Given the description of an element on the screen output the (x, y) to click on. 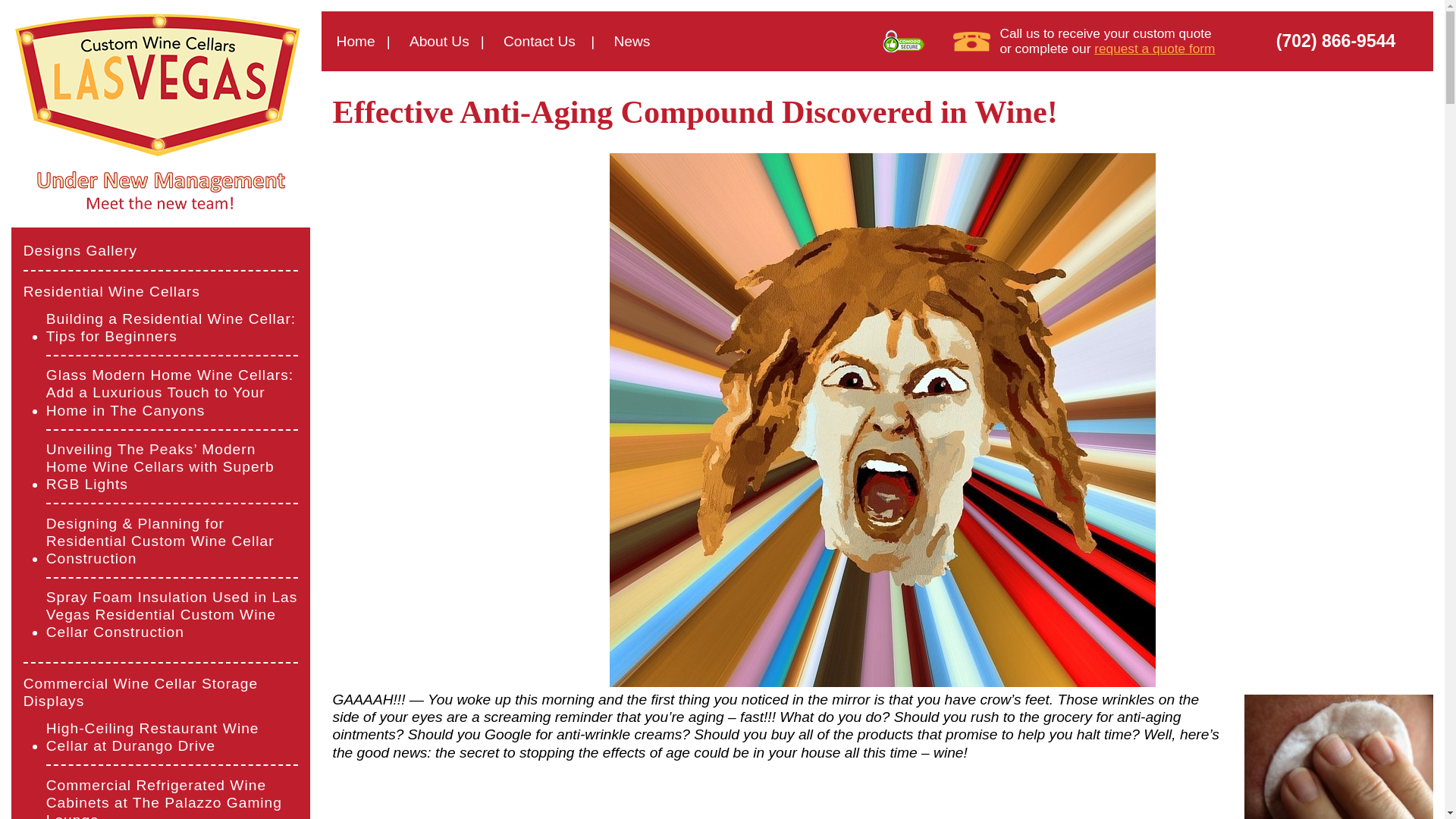
Building a Residential Wine Cellar: Tips for Beginners (172, 327)
High-Ceiling Restaurant Wine Cellar at Durango Drive (172, 736)
Commercial Wine Cellar Storage Displays (160, 692)
Residential Wine Cellars (111, 290)
Designs Gallery (79, 249)
